Given the description of an element on the screen output the (x, y) to click on. 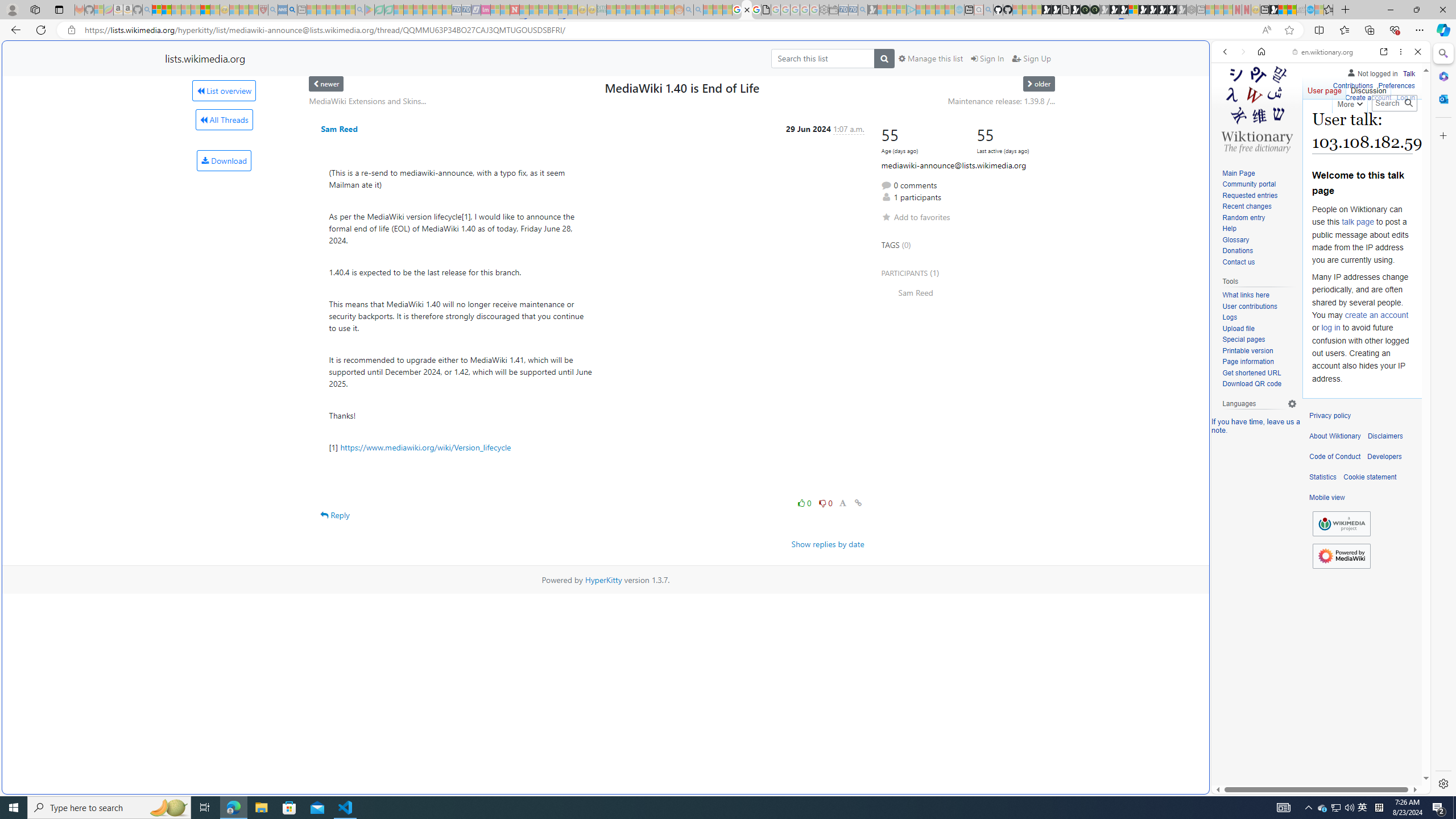
SEARCH TOOLS (1350, 130)
Donations (1259, 251)
Upload file (1259, 328)
Community portal (1259, 184)
Bluey: Let's Play! - Apps on Google Play - Sleeping (369, 9)
Logs (1259, 317)
Developers (1384, 456)
